Given the description of an element on the screen output the (x, y) to click on. 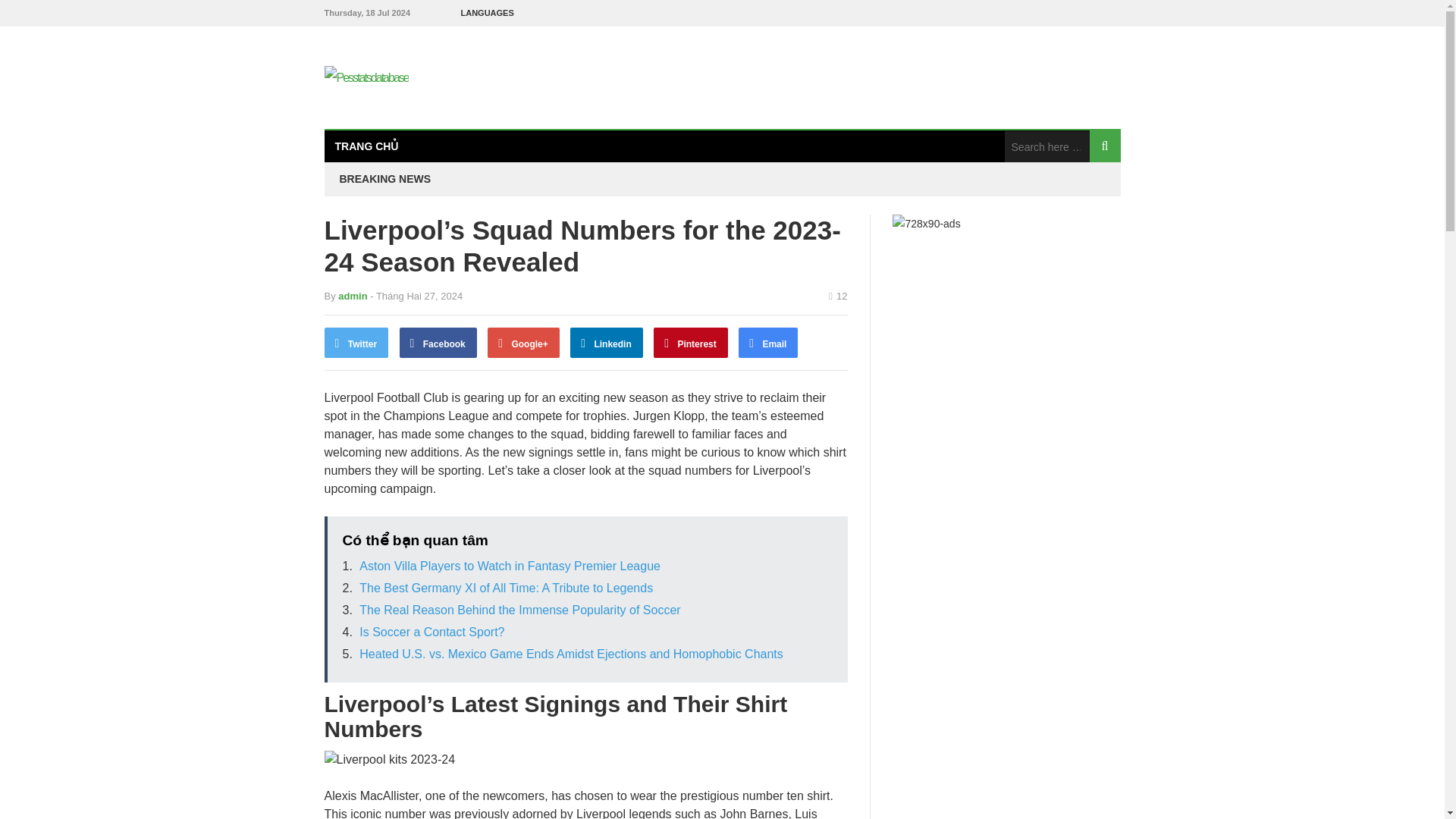
Linkedin (606, 342)
Is Soccer a Contact Sport? (431, 631)
Aston Villa Players to Watch in Fantasy Premier League (510, 565)
admin (351, 296)
The Best Germany XI of All Time: A Tribute to Legends (505, 587)
Twitter (356, 342)
The Real Reason Behind the Immense Popularity of Soccer (519, 609)
The Real Reason Behind the Immense Popularity of Soccer (519, 609)
Aston Villa Players to Watch in Fantasy Premier League (510, 565)
The Best Germany XI of All Time: A Tribute to Legends (505, 587)
Pinterest (690, 342)
Is Soccer a Contact Sport? (431, 631)
LANGUAGES (487, 13)
